Given the description of an element on the screen output the (x, y) to click on. 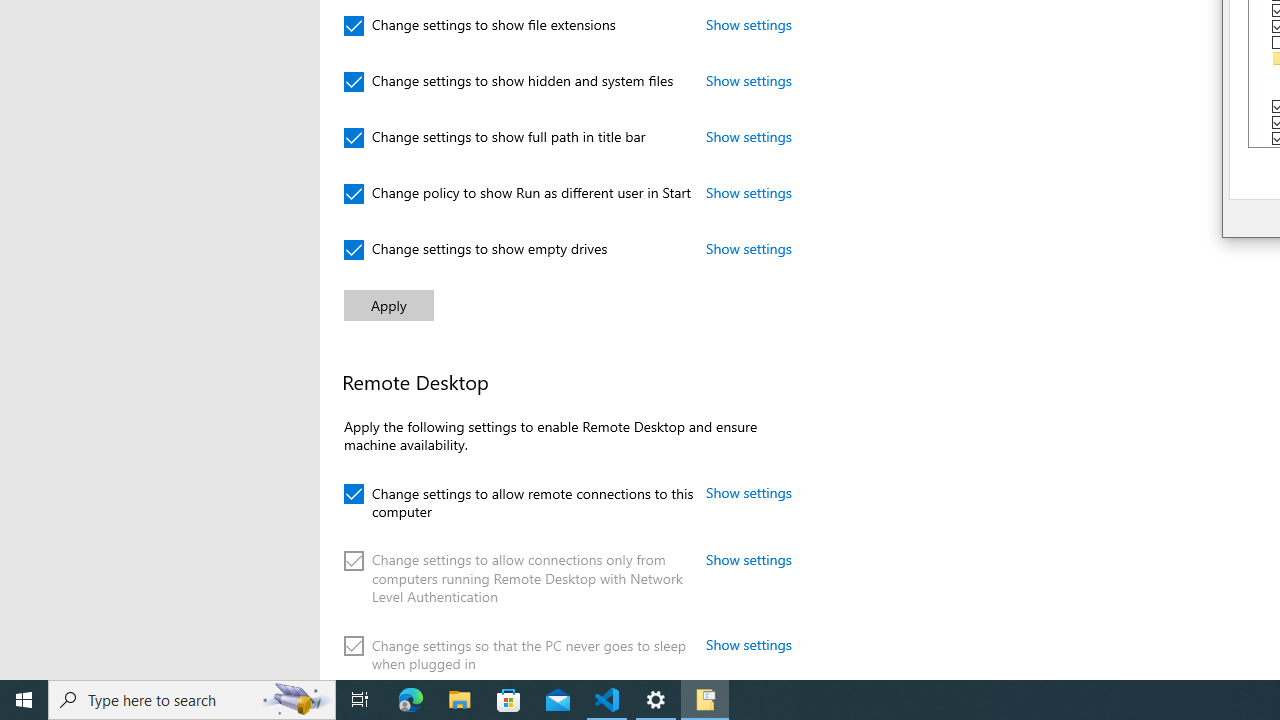
Settings - 1 running window (656, 699)
File Explorer Options - 1 running window (704, 699)
